Given the description of an element on the screen output the (x, y) to click on. 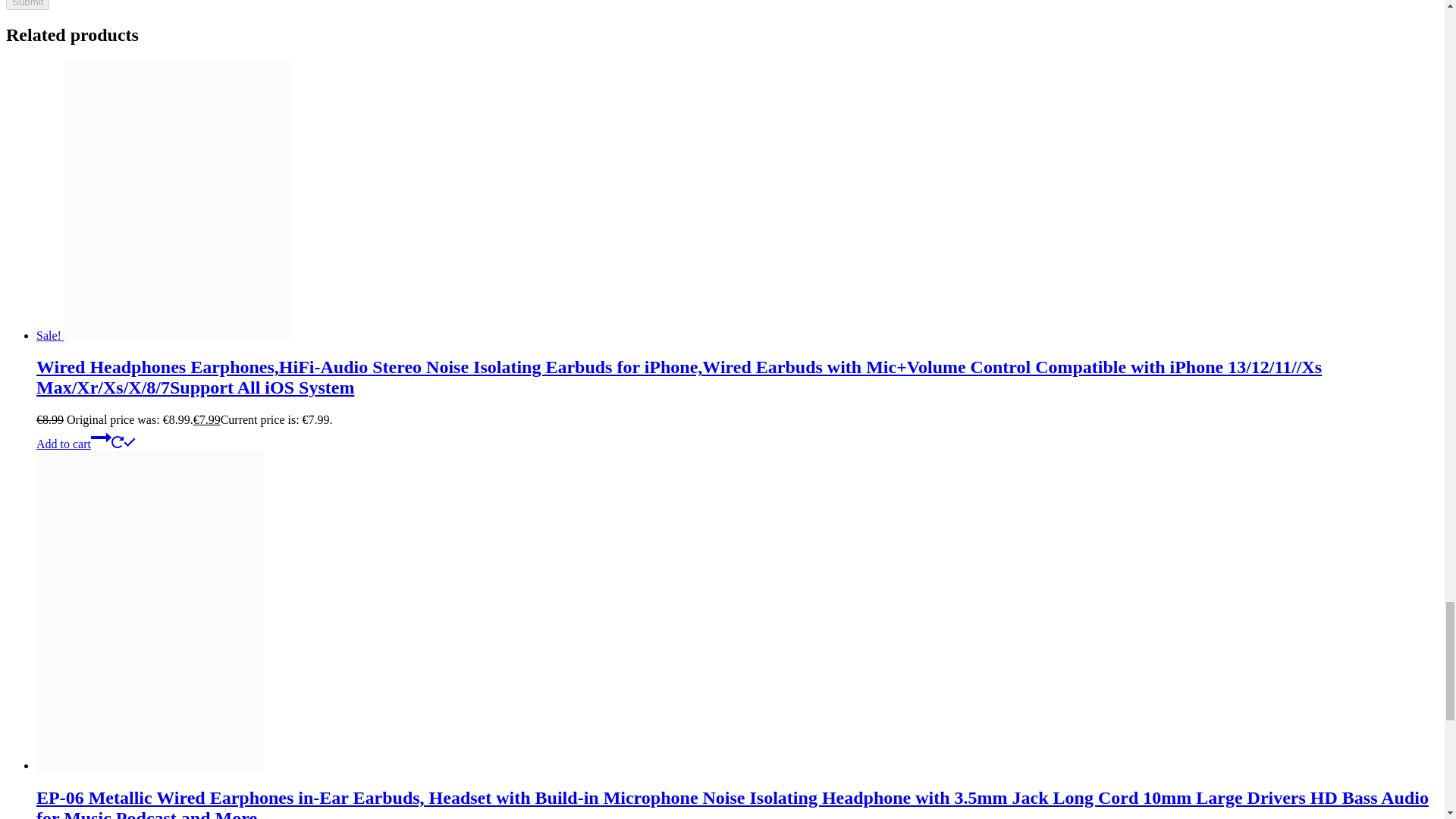
Loading (117, 441)
Continue (101, 436)
Submit (27, 4)
Sale! (164, 335)
Add to cartContinue Loading Done (85, 443)
Done (129, 441)
Submit (27, 4)
